Given the description of an element on the screen output the (x, y) to click on. 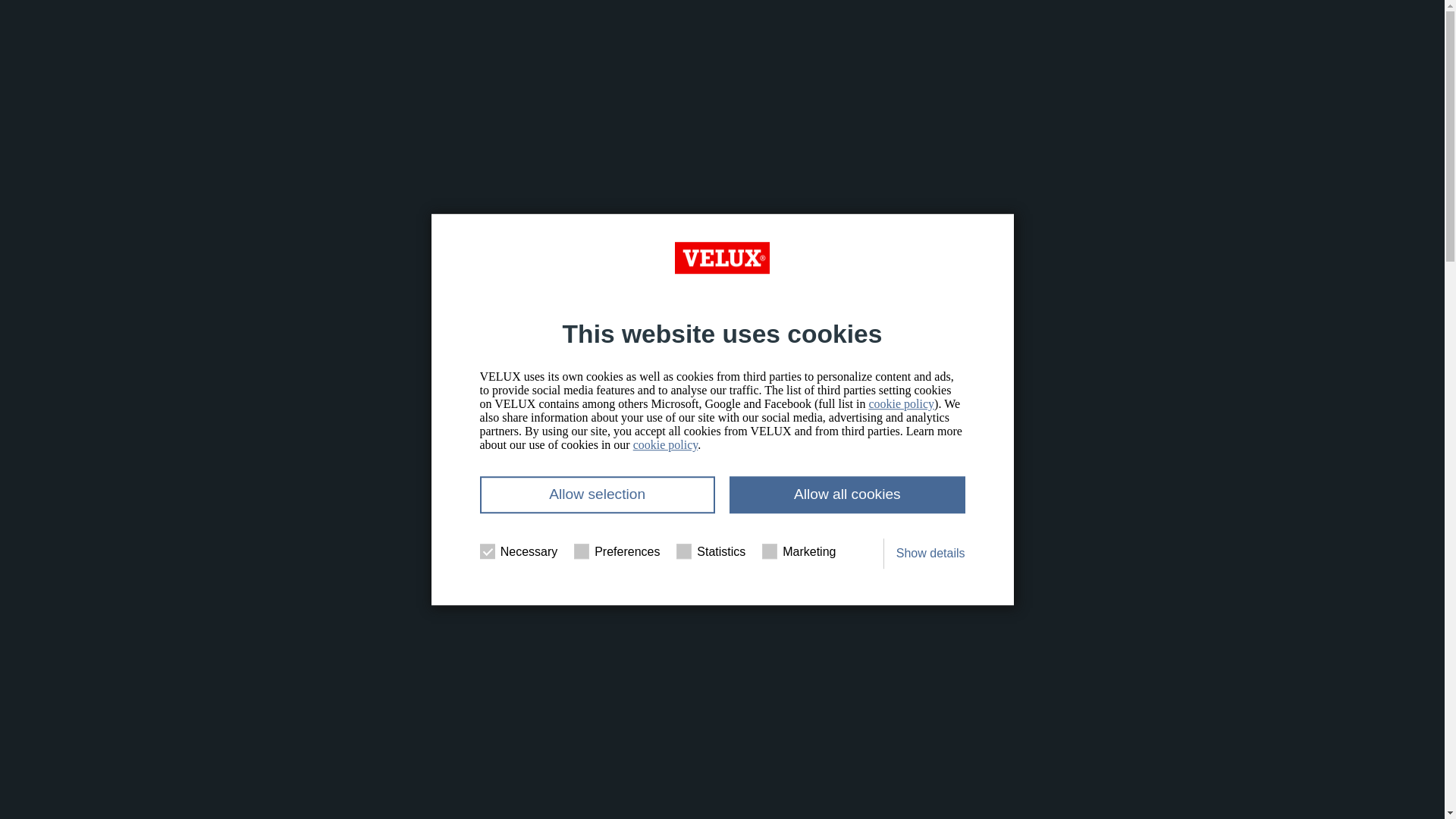
Allow selection (596, 494)
cookie policy (665, 444)
cookie policy (900, 403)
Allow all cookies (846, 494)
Show details (930, 553)
